Given the description of an element on the screen output the (x, y) to click on. 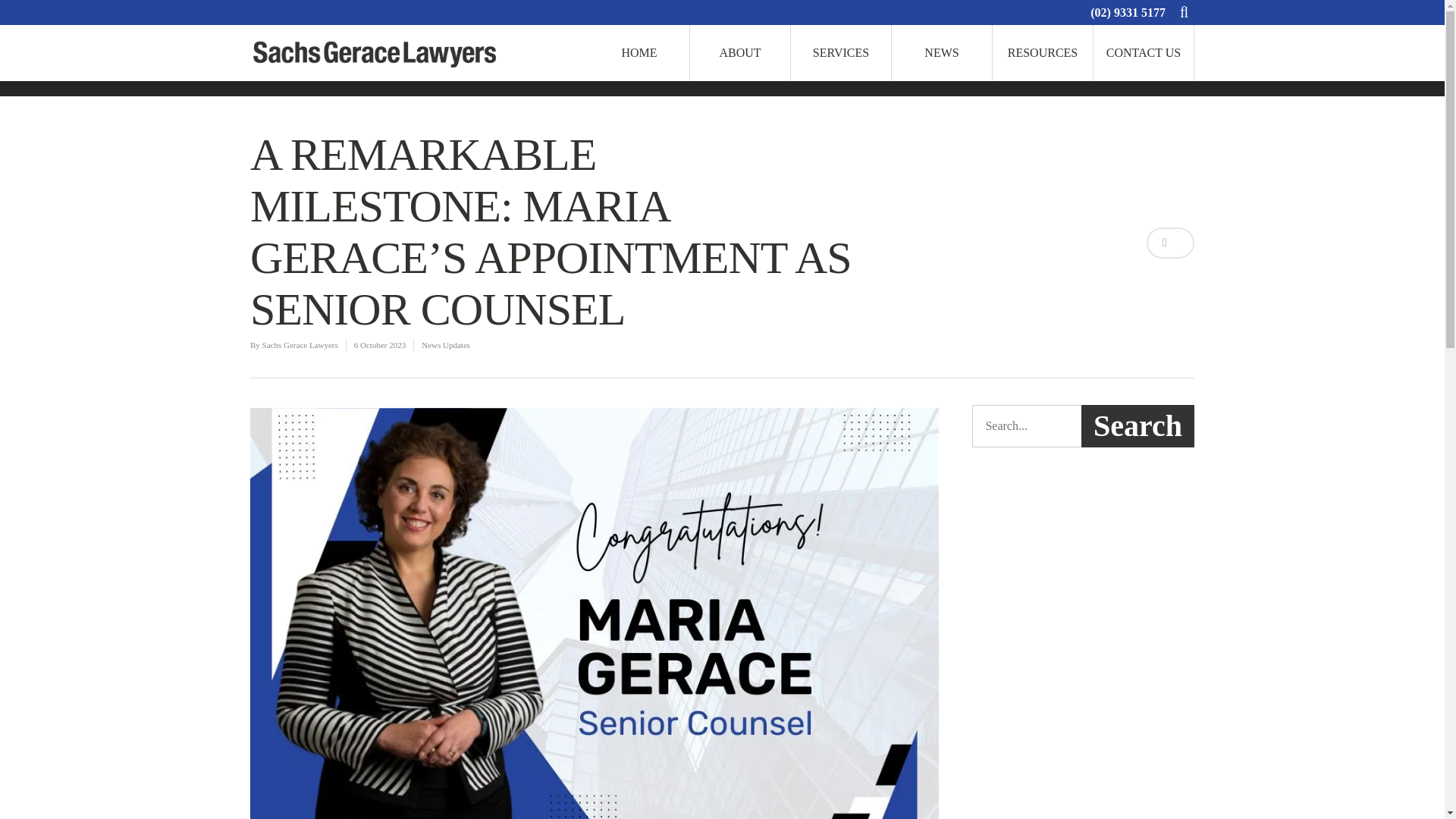
SERVICES (840, 53)
HOME (638, 53)
CONTACT US (1143, 53)
Sachs Gerace Lawyers (299, 344)
RESOURCES (1042, 53)
Search (1137, 425)
NEWS (941, 53)
Search for: (1082, 425)
ABOUT (739, 53)
News Updates (446, 344)
